Given the description of an element on the screen output the (x, y) to click on. 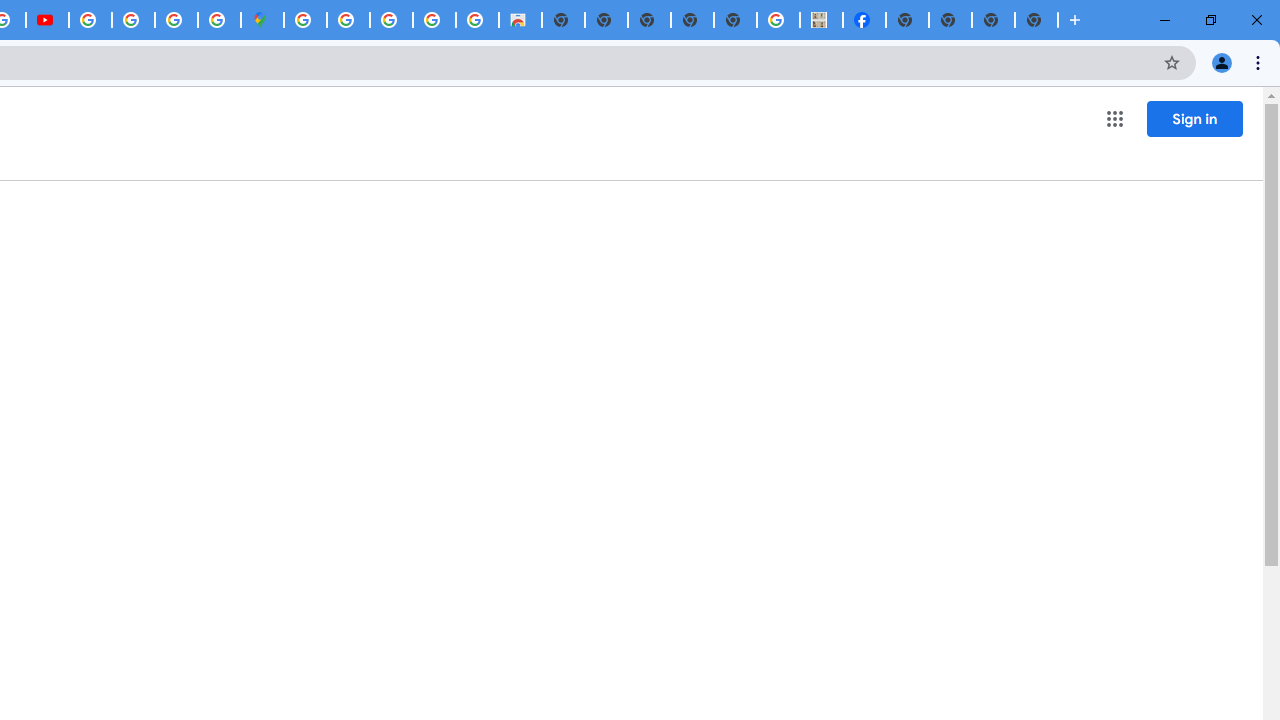
Miley Cyrus | Facebook (864, 20)
Chrome Web Store - Shopping (520, 20)
New Tab (907, 20)
Google Maps (262, 20)
MILEY CYRUS. (821, 20)
New Tab (1036, 20)
